Given the description of an element on the screen output the (x, y) to click on. 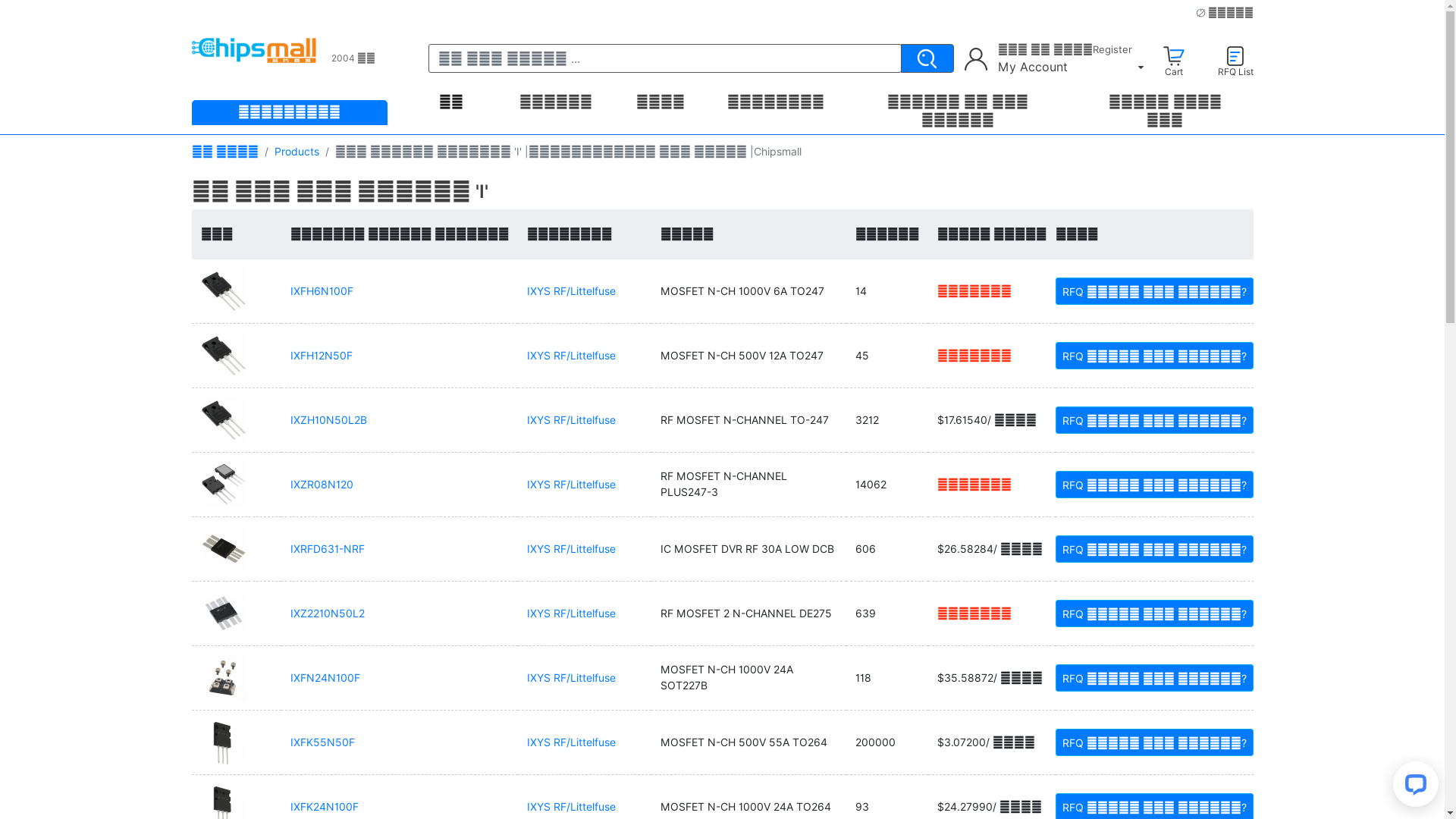
Cart Element type: text (1172, 60)
Products Element type: text (296, 152)
IXZ2210N50L2 Element type: text (327, 612)
IXYS RF/Littelfuse Element type: text (571, 420)
IXFK55N50F Element type: text (322, 741)
IXYS RF/Littelfuse Element type: text (571, 677)
IXYS RF/Littelfuse Element type: text (571, 806)
IXYS RF/Littelfuse Element type: text (571, 483)
IXYS RF/Littelfuse Element type: text (571, 354)
IXFN24N100F Element type: text (325, 677)
IXYS RF/Littelfuse Element type: text (571, 291)
IXZR08N120 Element type: text (321, 483)
IXYS RF/Littelfuse Element type: text (571, 612)
Register Element type: text (1111, 49)
IXFH12N50F Element type: text (321, 354)
IXRFD631-NRF Element type: text (327, 548)
RFQ List Element type: text (1235, 60)
IXYS RF/Littelfuse Element type: text (571, 741)
IXFK24N100F Element type: text (324, 806)
IXYS RF/Littelfuse Element type: text (571, 548)
IXZH10N50L2B Element type: text (328, 420)
IXFH6N100F Element type: text (321, 291)
